Given the description of an element on the screen output the (x, y) to click on. 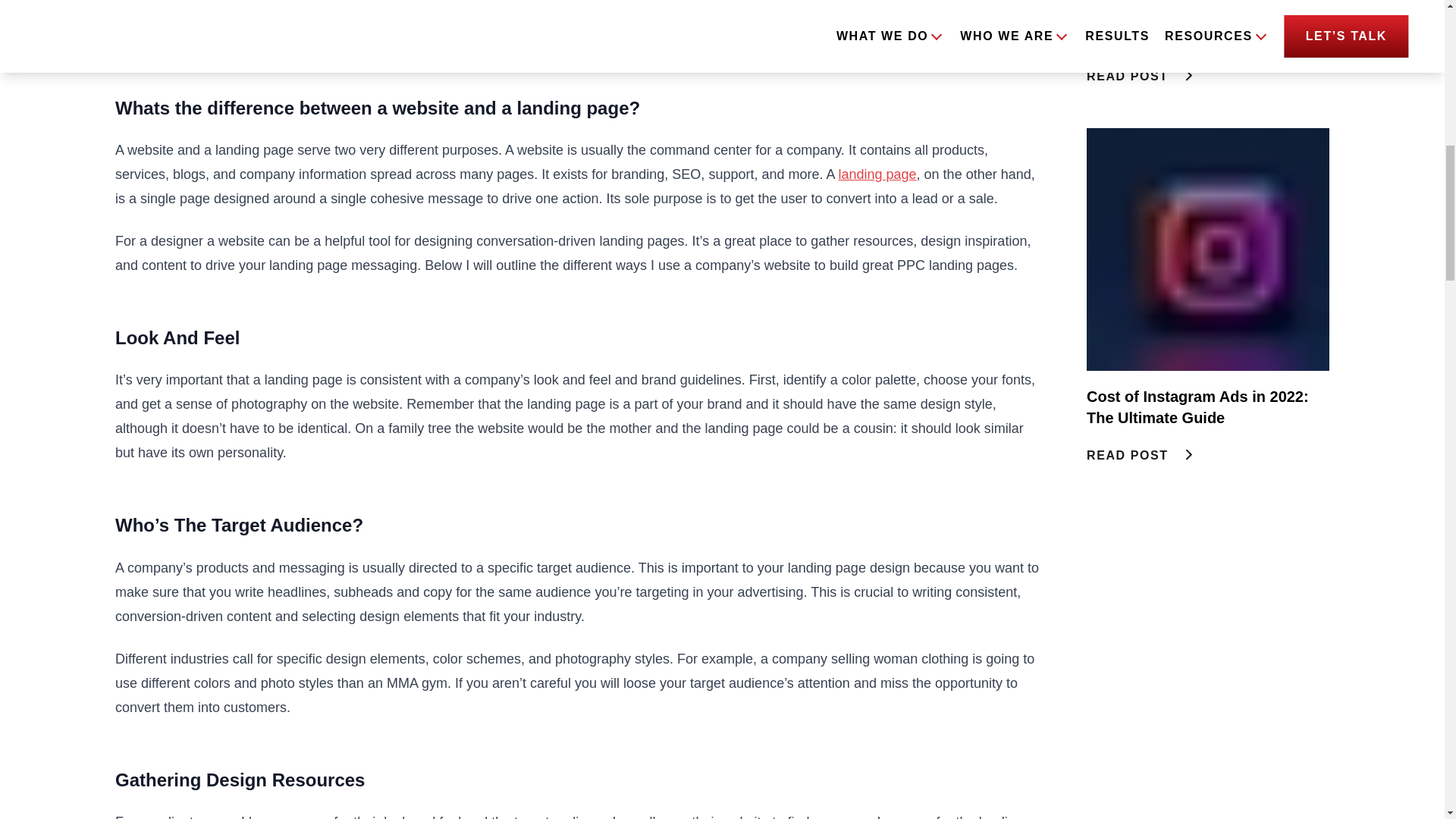
landing page (876, 174)
